Given the description of an element on the screen output the (x, y) to click on. 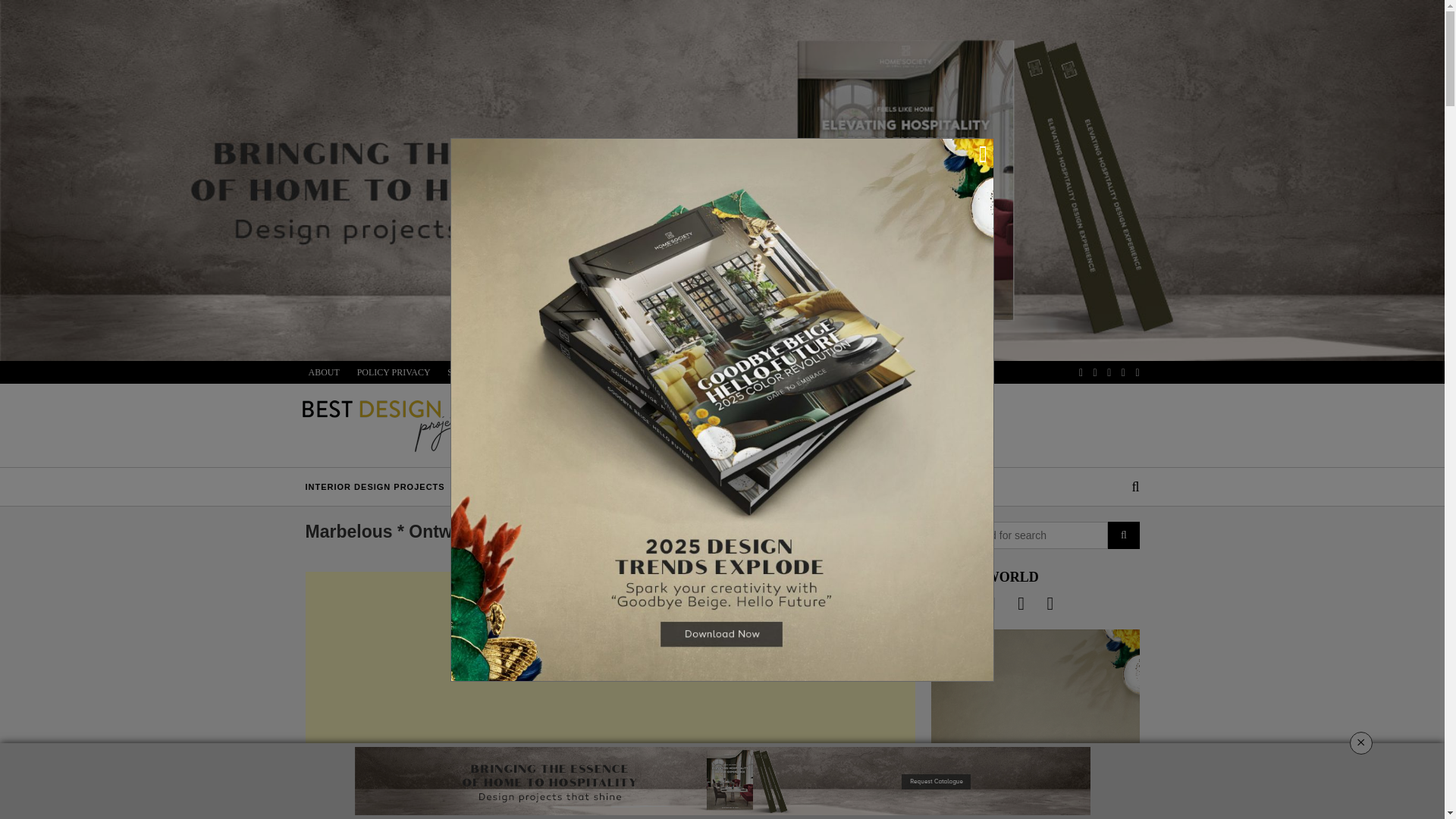
DESIGN EVENTS (905, 487)
11:44 am (406, 817)
December 28, 2011 (406, 817)
Advertisement (609, 677)
ROOMS INSPIRATION (802, 487)
POLICY PRIVACY (394, 371)
Uncategorized (334, 816)
ABOUT (323, 371)
ARCHITECTURE PROJECTS (538, 487)
INTERIOR DESIGN PROJECTS (374, 487)
SITE MAP (466, 371)
